Given the description of an element on the screen output the (x, y) to click on. 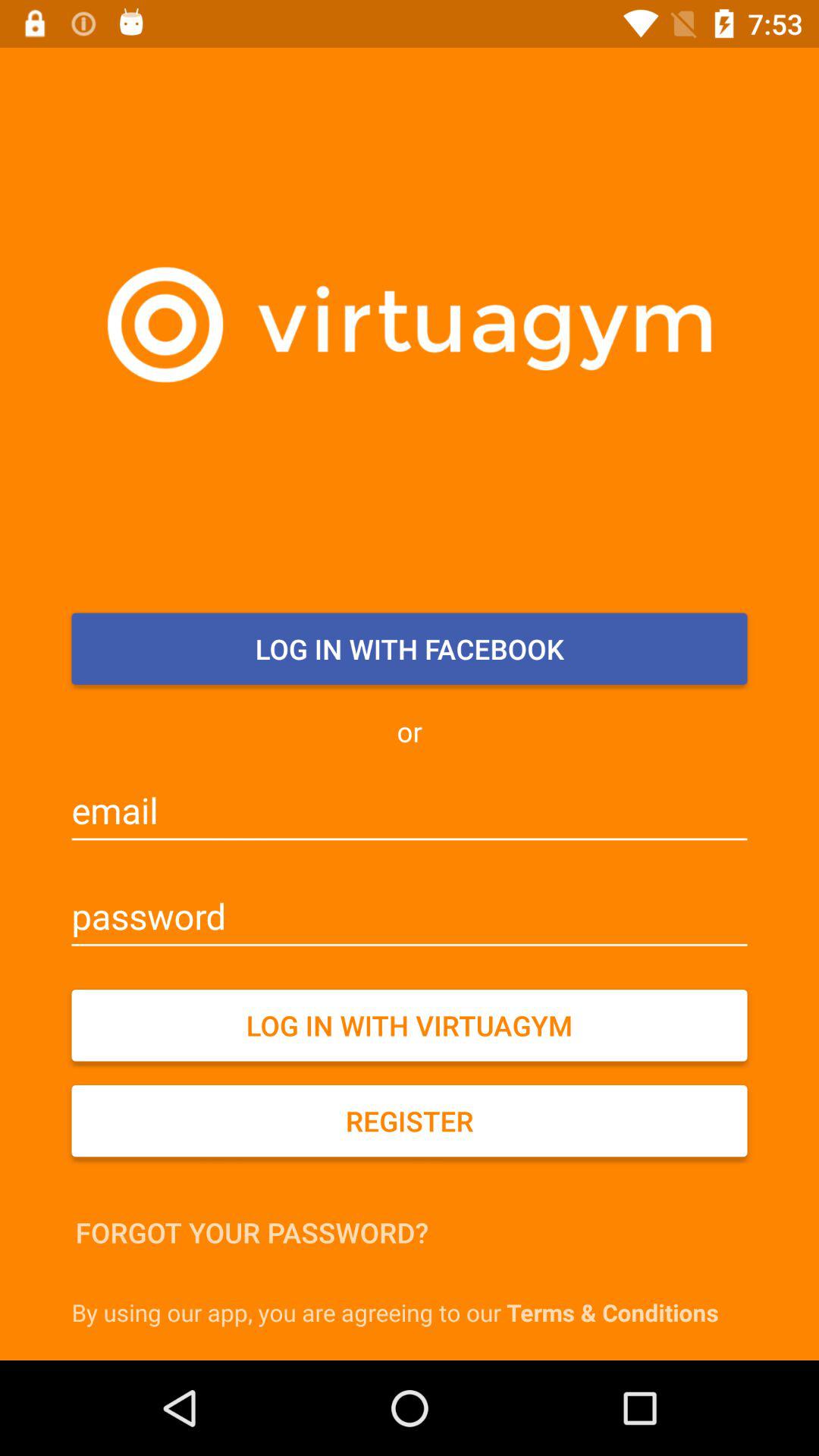
scroll until forgot your password? item (251, 1232)
